Given the description of an element on the screen output the (x, y) to click on. 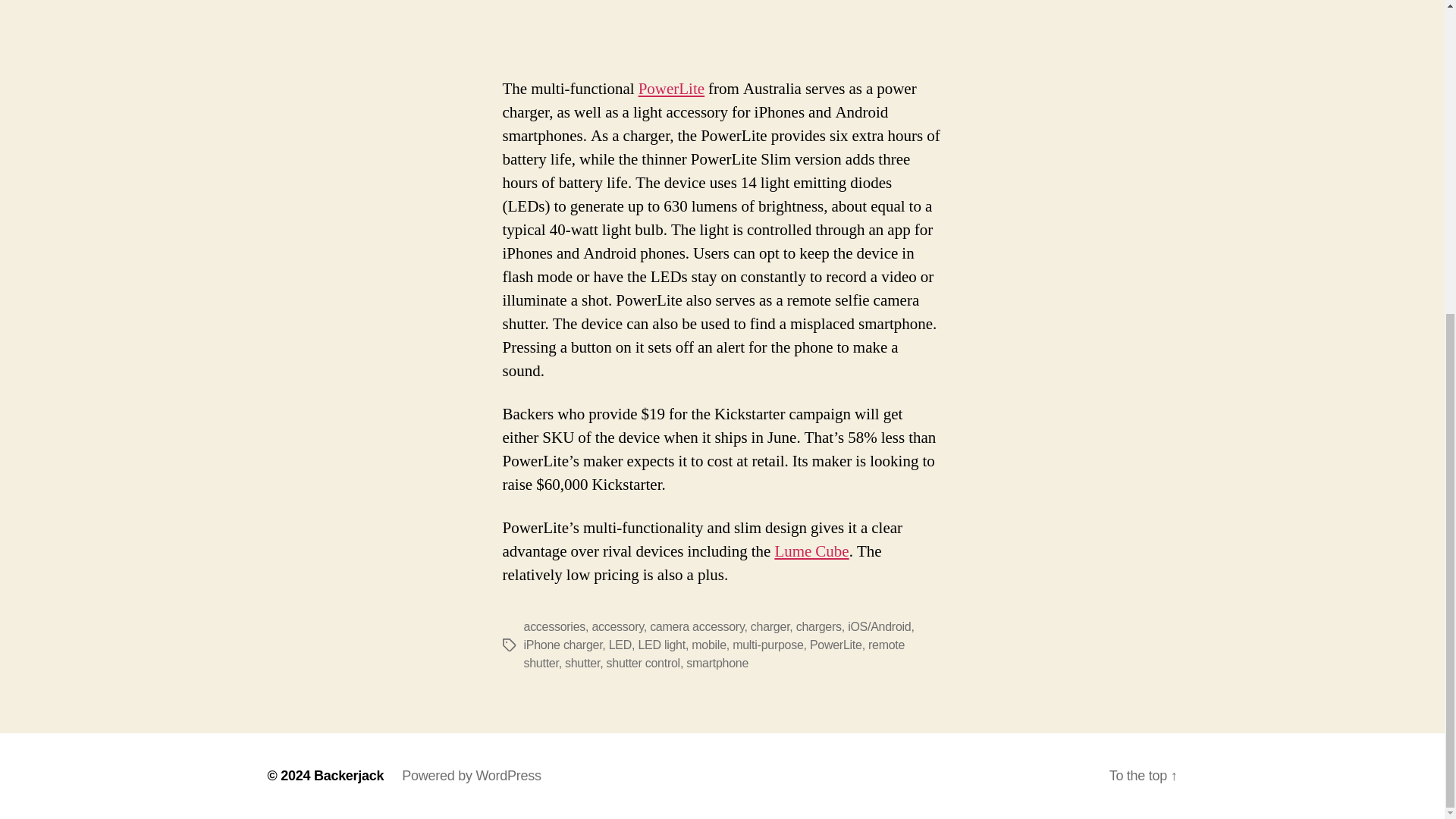
mobile (708, 644)
multi-purpose (767, 644)
shutter control (643, 662)
PowerLite (671, 88)
accessories (553, 626)
Lume Cube (811, 551)
chargers (818, 626)
LED (619, 644)
LED light (661, 644)
iPhone charger (562, 644)
